Given the description of an element on the screen output the (x, y) to click on. 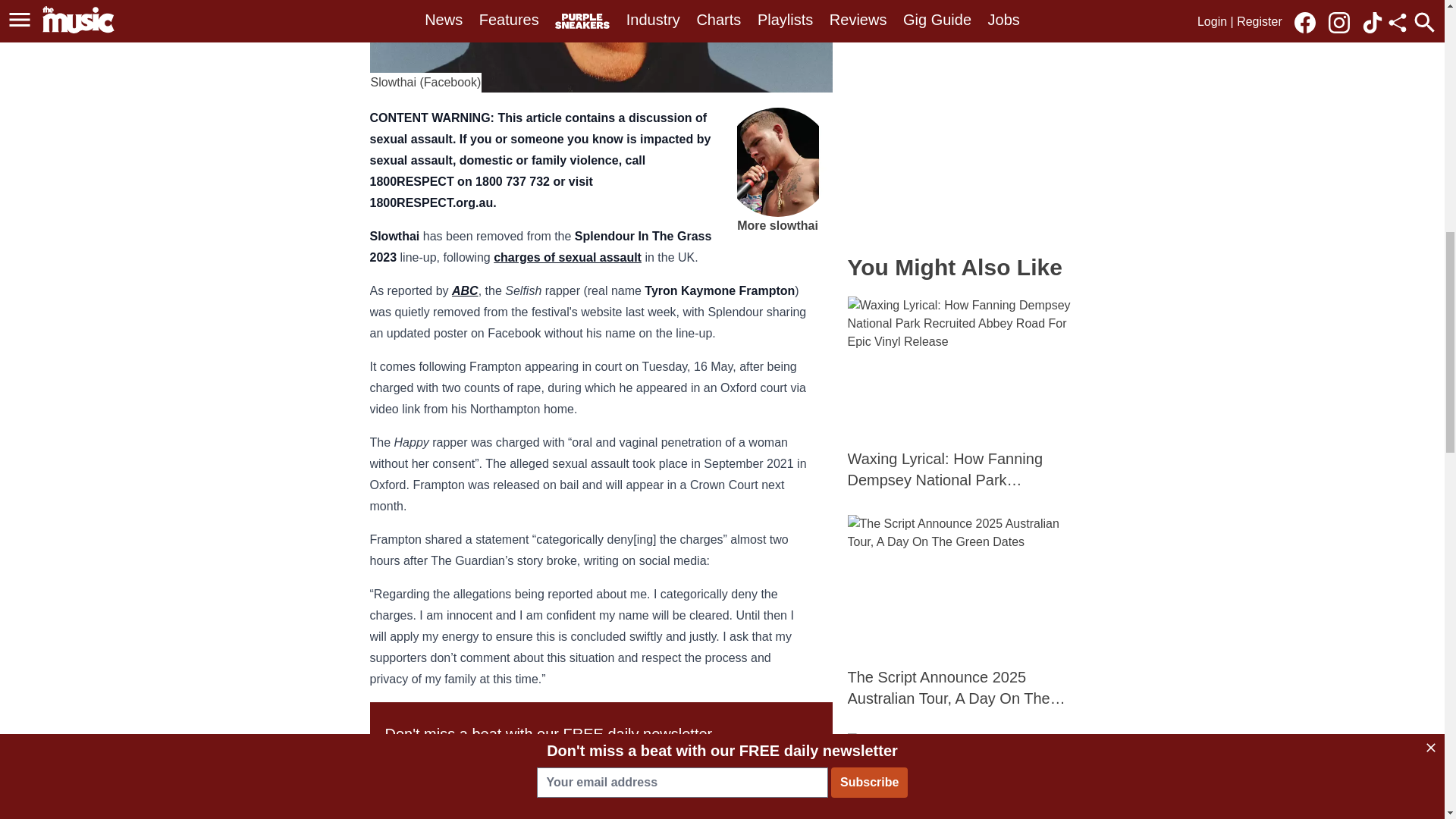
G Flip To Hit Melbourne For Exclusive BWS Cool Room Session (961, 776)
ABC (465, 290)
charges of sexual assault (567, 256)
Subscribe (715, 766)
